Given the description of an element on the screen output the (x, y) to click on. 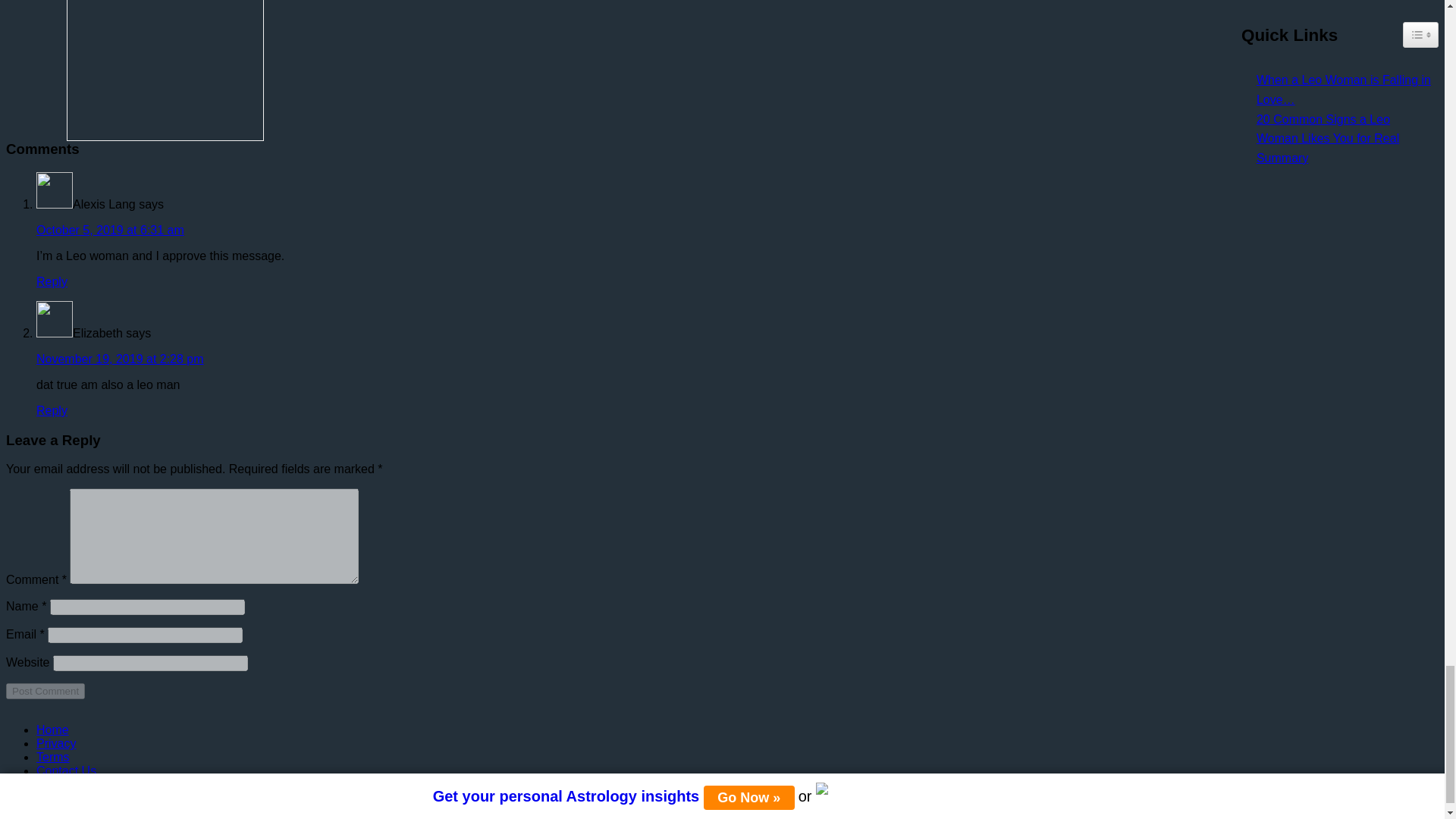
Post Comment (44, 691)
October 5, 2019 at 6:31 am (110, 229)
Post Comment (44, 691)
Reply (51, 281)
Reply (51, 410)
November 19, 2019 at 2:28 pm (119, 358)
